Given the description of an element on the screen output the (x, y) to click on. 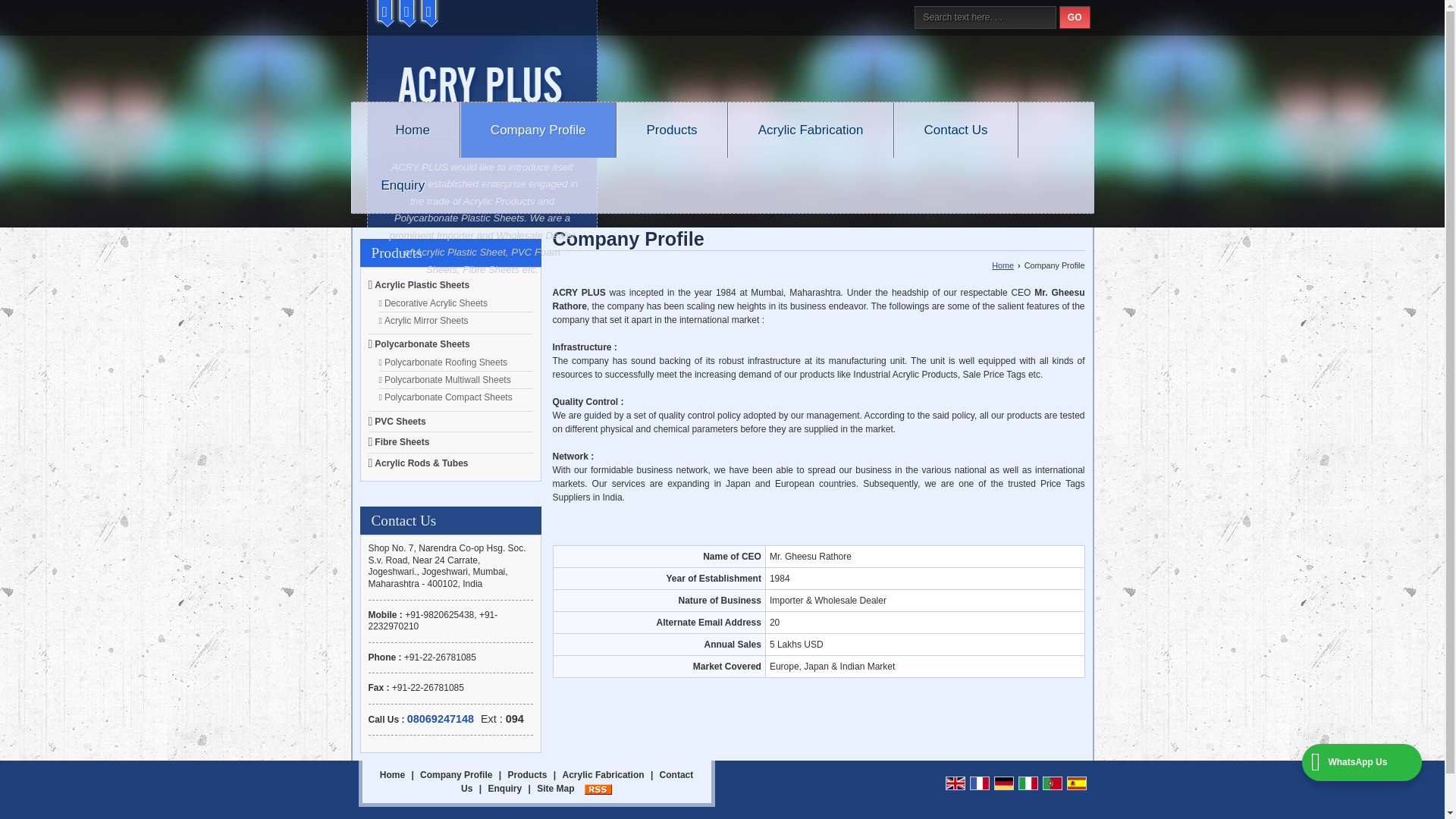
Acrylic Fabrication (811, 130)
Home (411, 130)
Polycarbonate Compact Sheets (448, 397)
Acrylic Plastic Sheets (421, 285)
Home (392, 774)
Acrylic Mirror Sheets (426, 320)
PVC Sheets (399, 421)
Company Profile (538, 130)
Acrylic Plastic Sheets (421, 285)
Home (1002, 265)
